Given the description of an element on the screen output the (x, y) to click on. 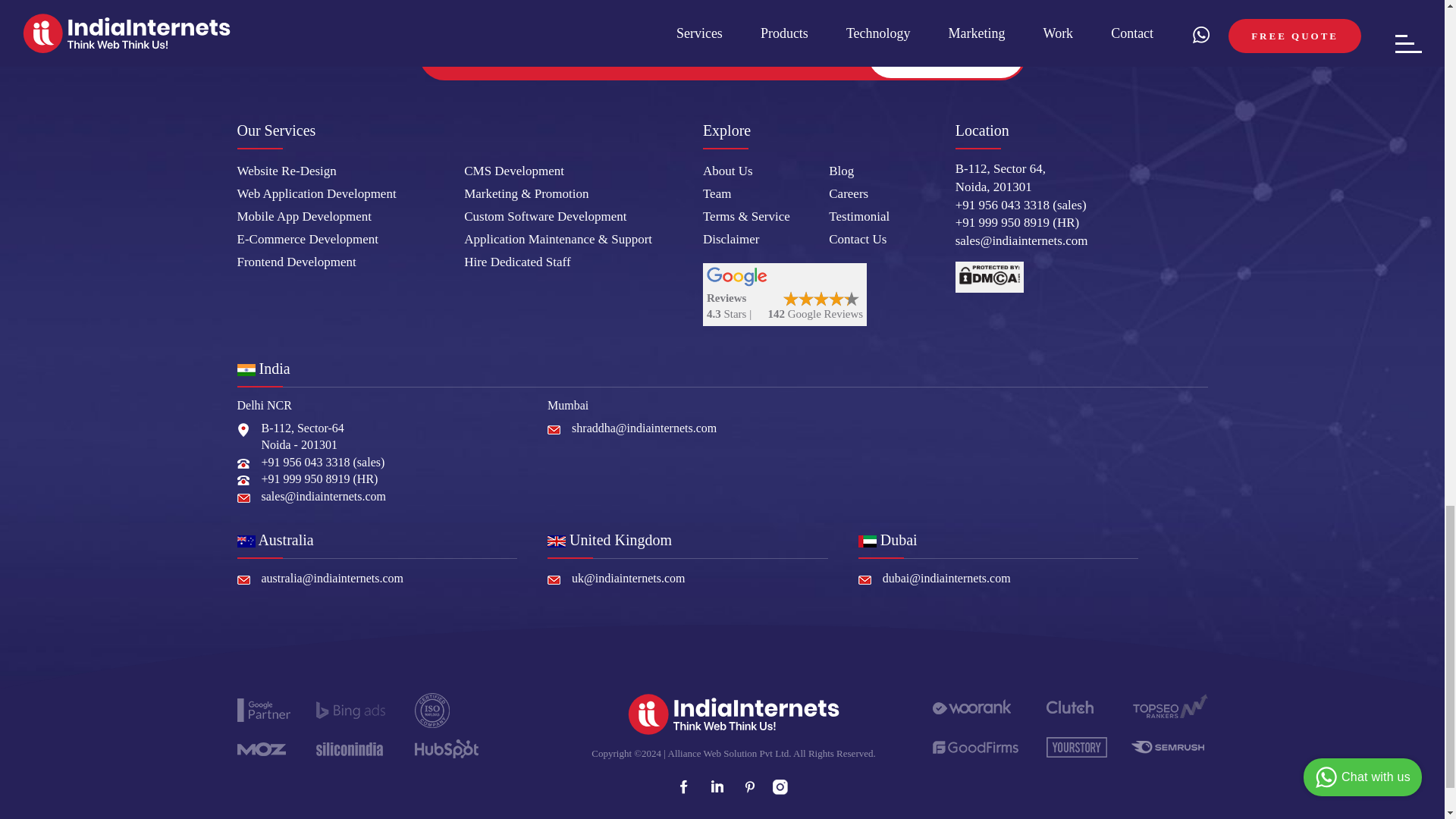
Visit our Facebook page (682, 787)
Visit our Pinterest page (747, 787)
DMCA.com Protection Status (989, 276)
Visit our LinkedIn page (715, 787)
